Given the description of an element on the screen output the (x, y) to click on. 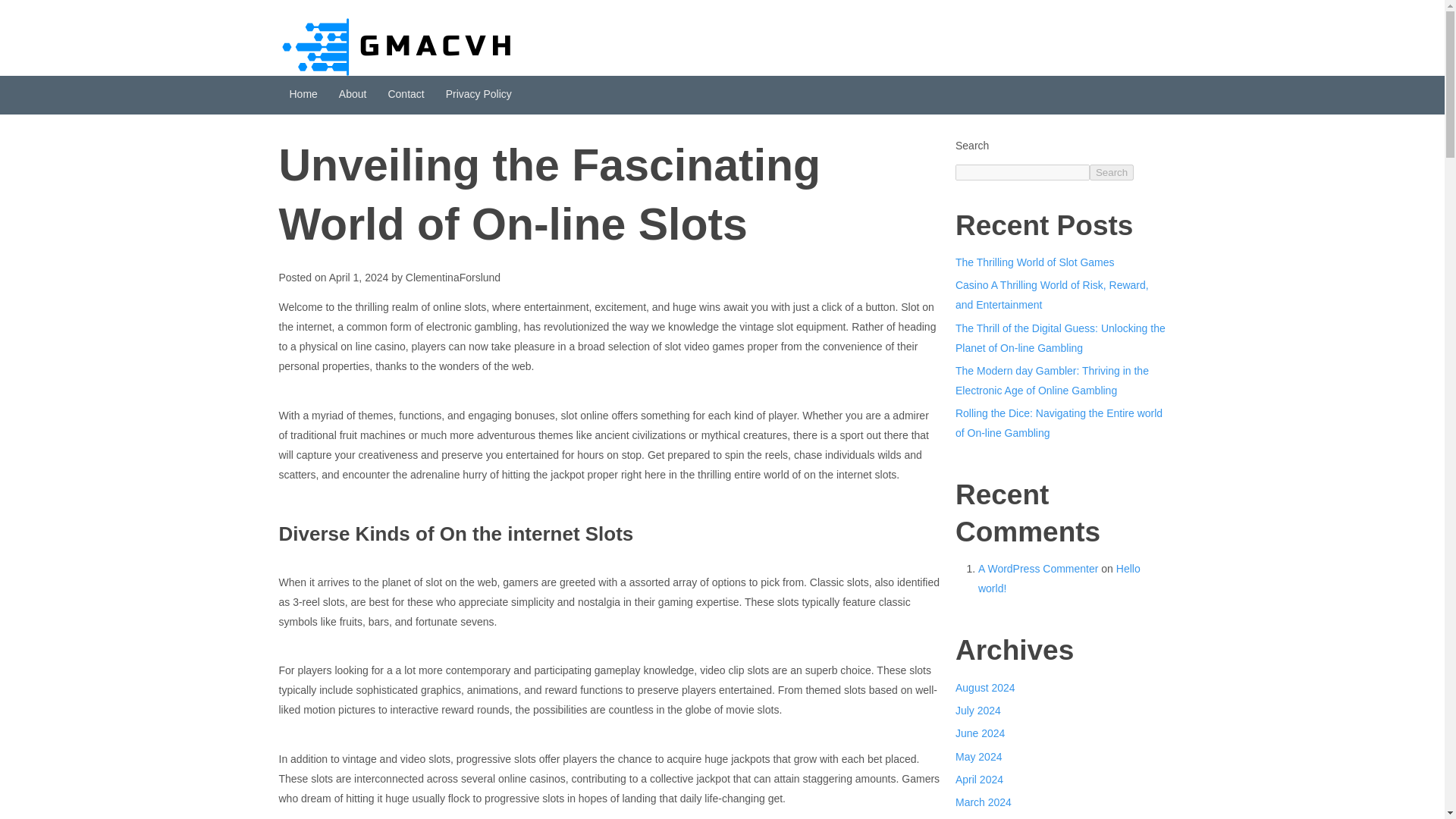
Contact (405, 95)
Privacy Policy (478, 95)
June 2024 (979, 733)
August 2024 (984, 687)
A WordPress Commenter (1037, 568)
Casino A Thrilling World of Risk, Reward, and Entertainment (1051, 295)
Search (1111, 172)
March 2024 (983, 802)
Hello world! (1059, 578)
About (353, 95)
ClementinaForslund (453, 277)
May 2024 (978, 756)
The Thrilling World of Slot Games (1035, 262)
